Given the description of an element on the screen output the (x, y) to click on. 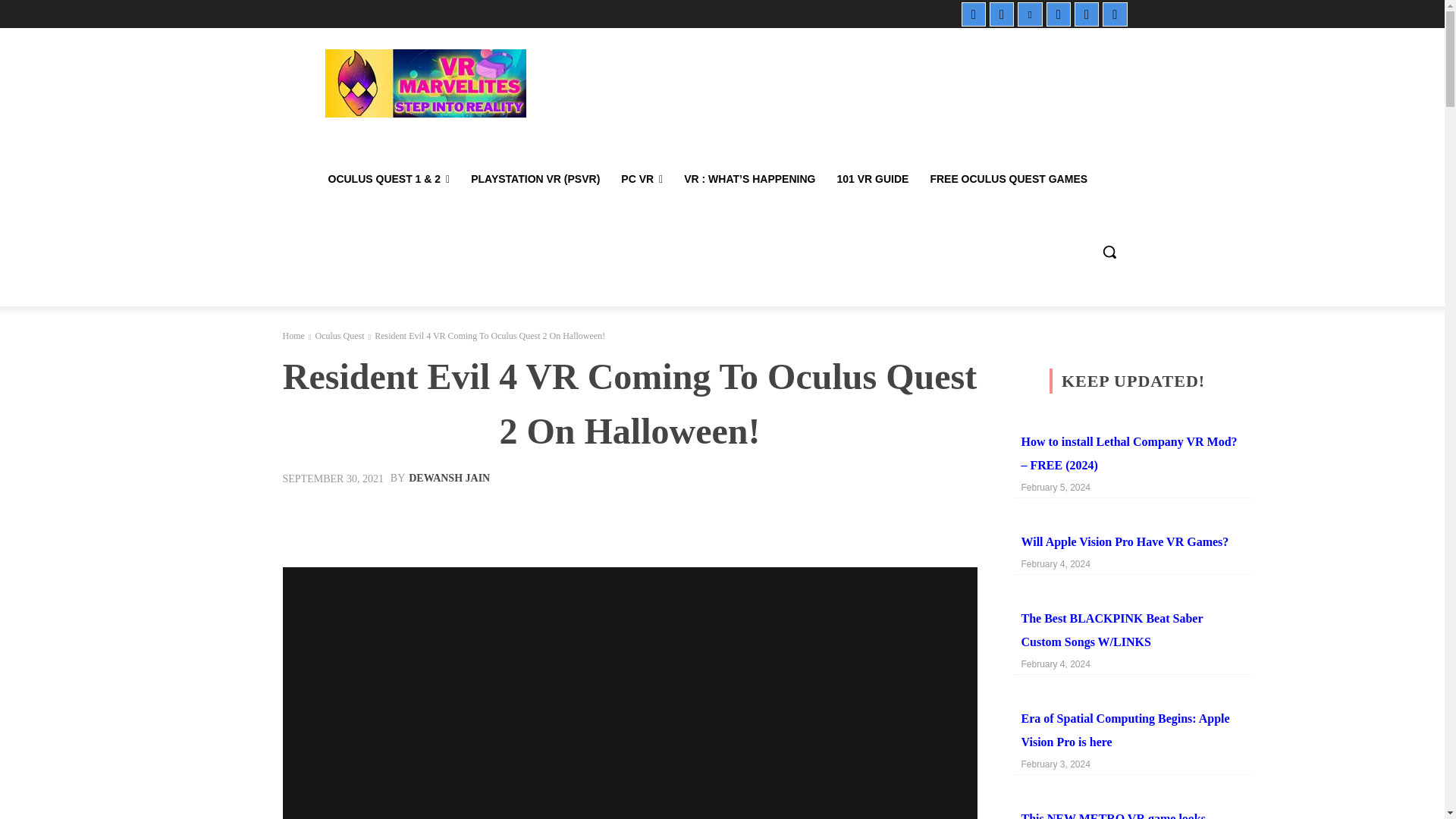
Reddit (1058, 13)
VR Marvelites (424, 83)
Youtube (1114, 13)
Twitter (1086, 13)
VR Marvelites (425, 83)
View all posts in Oculus Quest (339, 335)
Pinterest (1029, 13)
Instagram (1001, 13)
Facebook (972, 13)
